Given the description of an element on the screen output the (x, y) to click on. 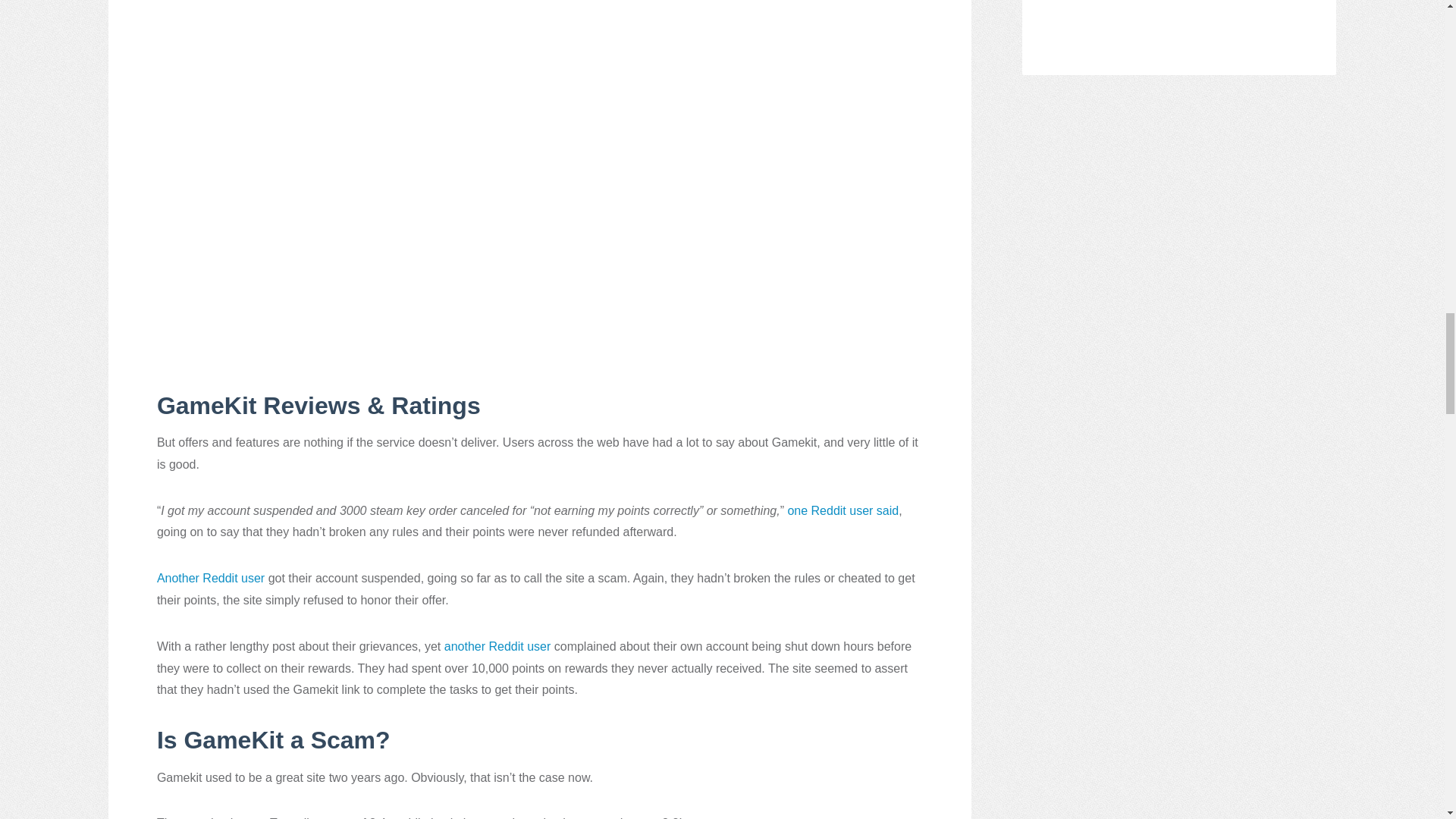
Another Reddit user (210, 577)
one Reddit user said (842, 510)
As Seen On (1179, 20)
another Reddit user (497, 645)
